Given the description of an element on the screen output the (x, y) to click on. 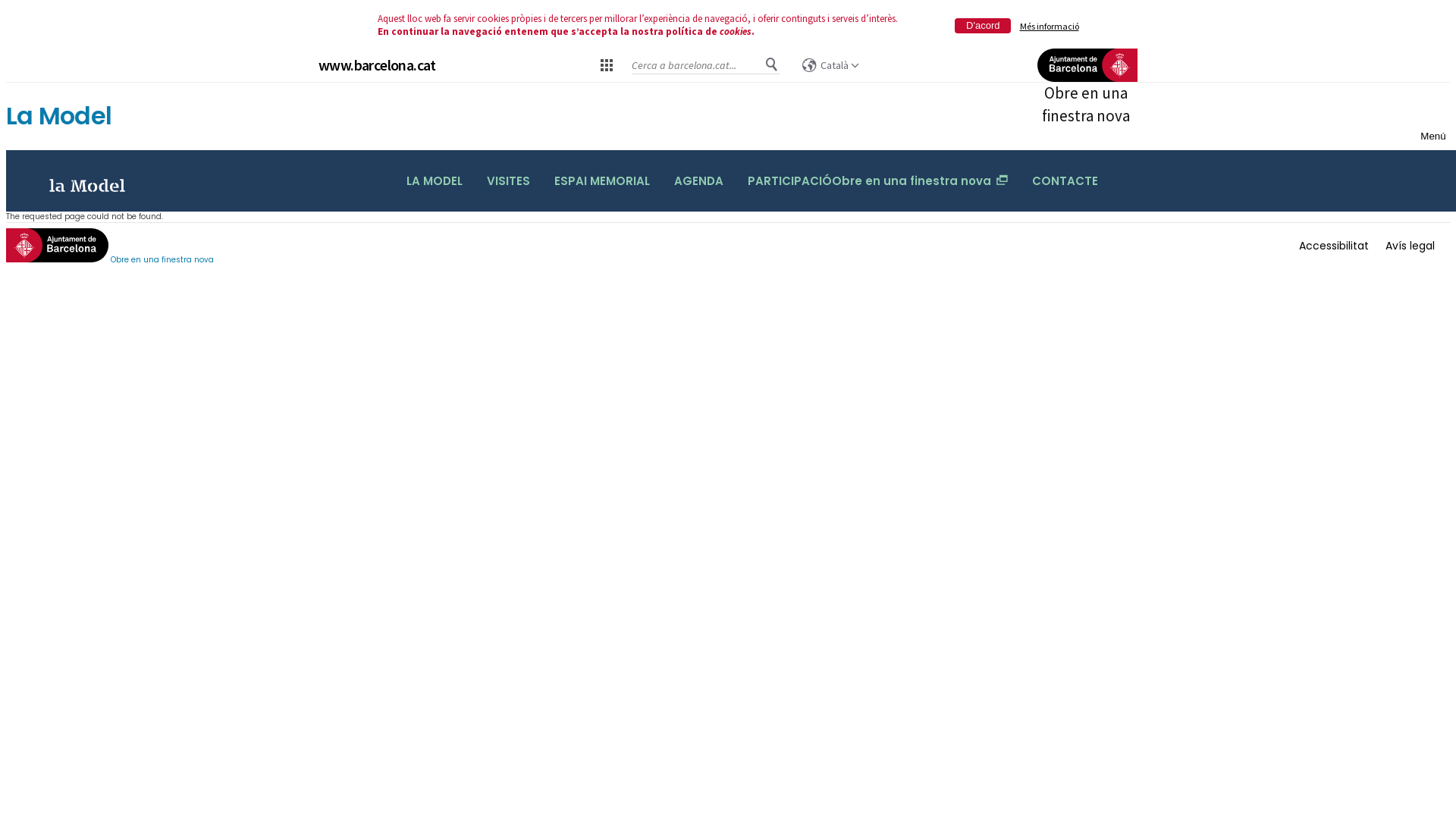
CONTACTE Element type: text (1065, 180)
cookies Element type: text (734, 31)
Saltar al contingut principal Element type: text (6, 82)
LA MODEL Element type: text (81, 184)
AGENDA Element type: text (698, 180)
VISITES Element type: text (508, 180)
Obre en una finestra nova Element type: text (109, 246)
www.barcelona.cat Element type: text (377, 64)
D'acord Element type: text (982, 25)
LA MODEL Element type: text (434, 180)
ESPAI MEMORIAL Element type: text (601, 180)
Accessibilitat Element type: text (1333, 245)
Obre en una finestra nova Element type: text (1085, 87)
Dreceres de barcelona.cat Element type: hover (605, 64)
